Given the description of an element on the screen output the (x, y) to click on. 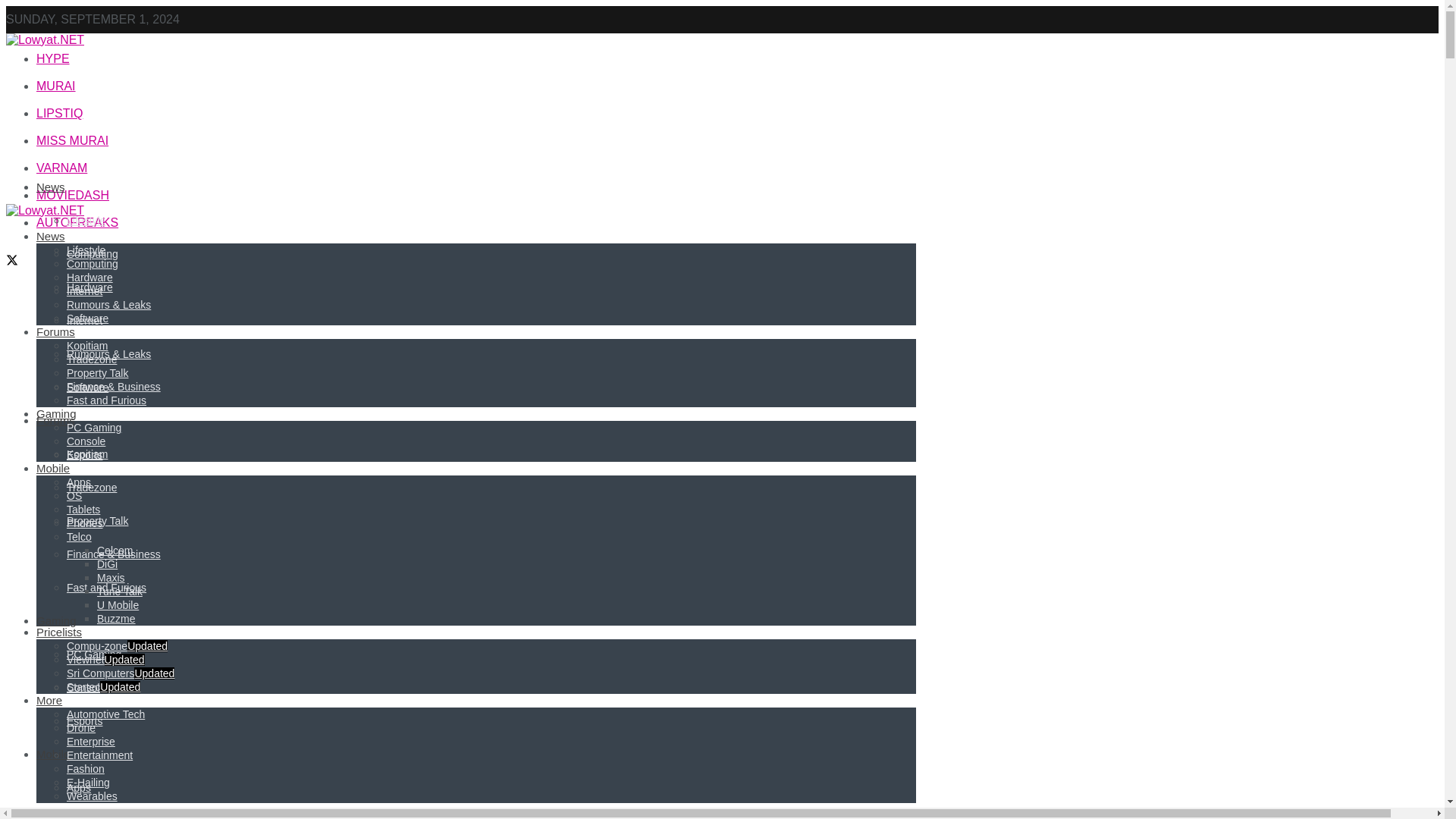
Mobile (52, 753)
VARNAM (61, 167)
HYPE (52, 58)
OS (73, 816)
MOVIEDASH (72, 195)
Computing (91, 254)
Esports (83, 720)
AUTOFREAKS (76, 222)
MISS MURAI (71, 140)
Forums (55, 420)
